Given the description of an element on the screen output the (x, y) to click on. 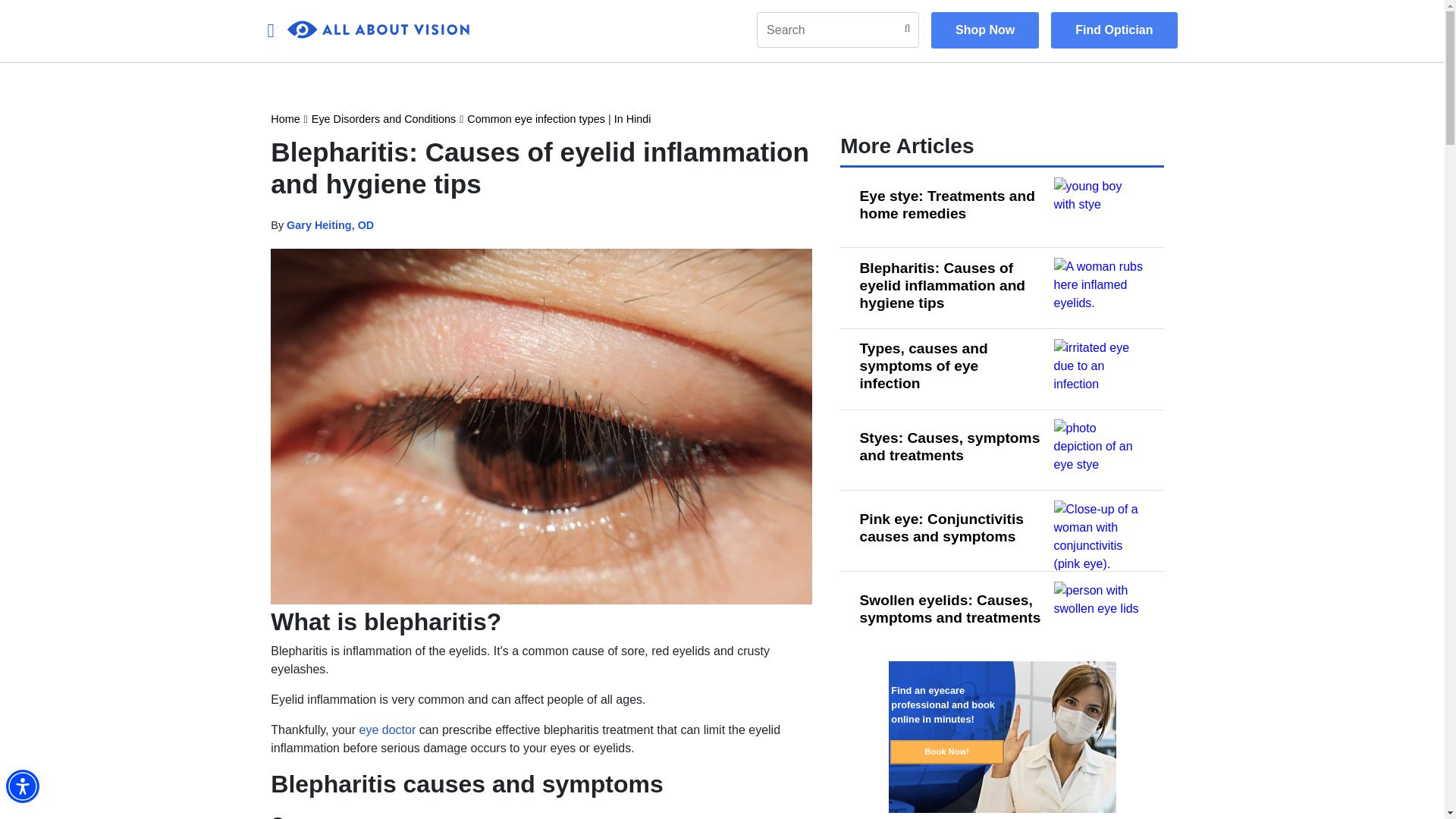
Accessibility Menu (22, 786)
Find Optician (1113, 30)
0 (377, 30)
Shop Now (985, 30)
0 (377, 29)
eye doctor (387, 729)
